Given the description of an element on the screen output the (x, y) to click on. 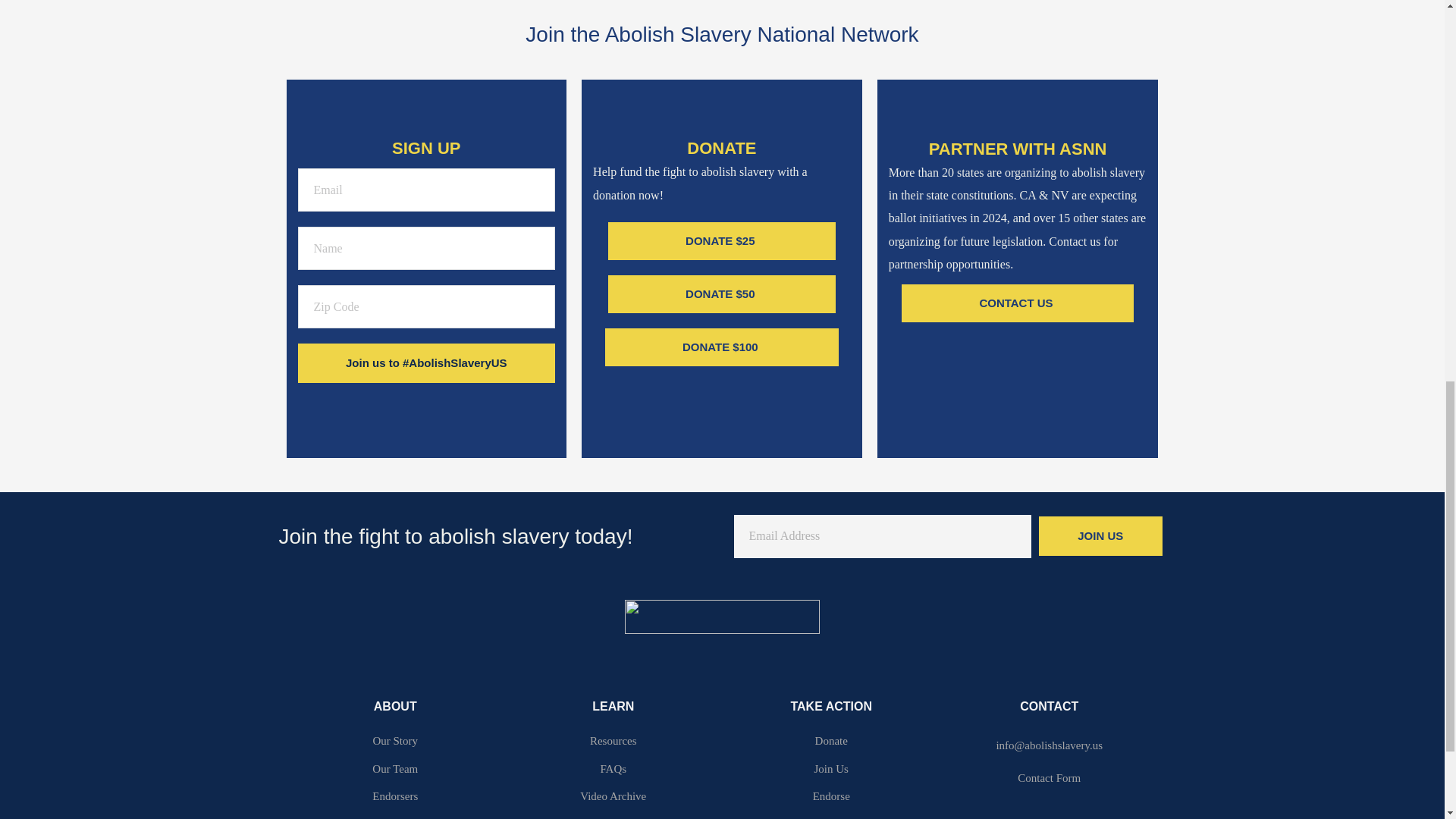
Our Story (394, 741)
Our Team (394, 768)
Join Us (830, 768)
JOIN US (1100, 536)
Video Archive (612, 796)
ABOUT (395, 706)
TAKE ACTION (831, 706)
FAQs (612, 768)
Resources (613, 741)
CONTACT (1049, 706)
